Given the description of an element on the screen output the (x, y) to click on. 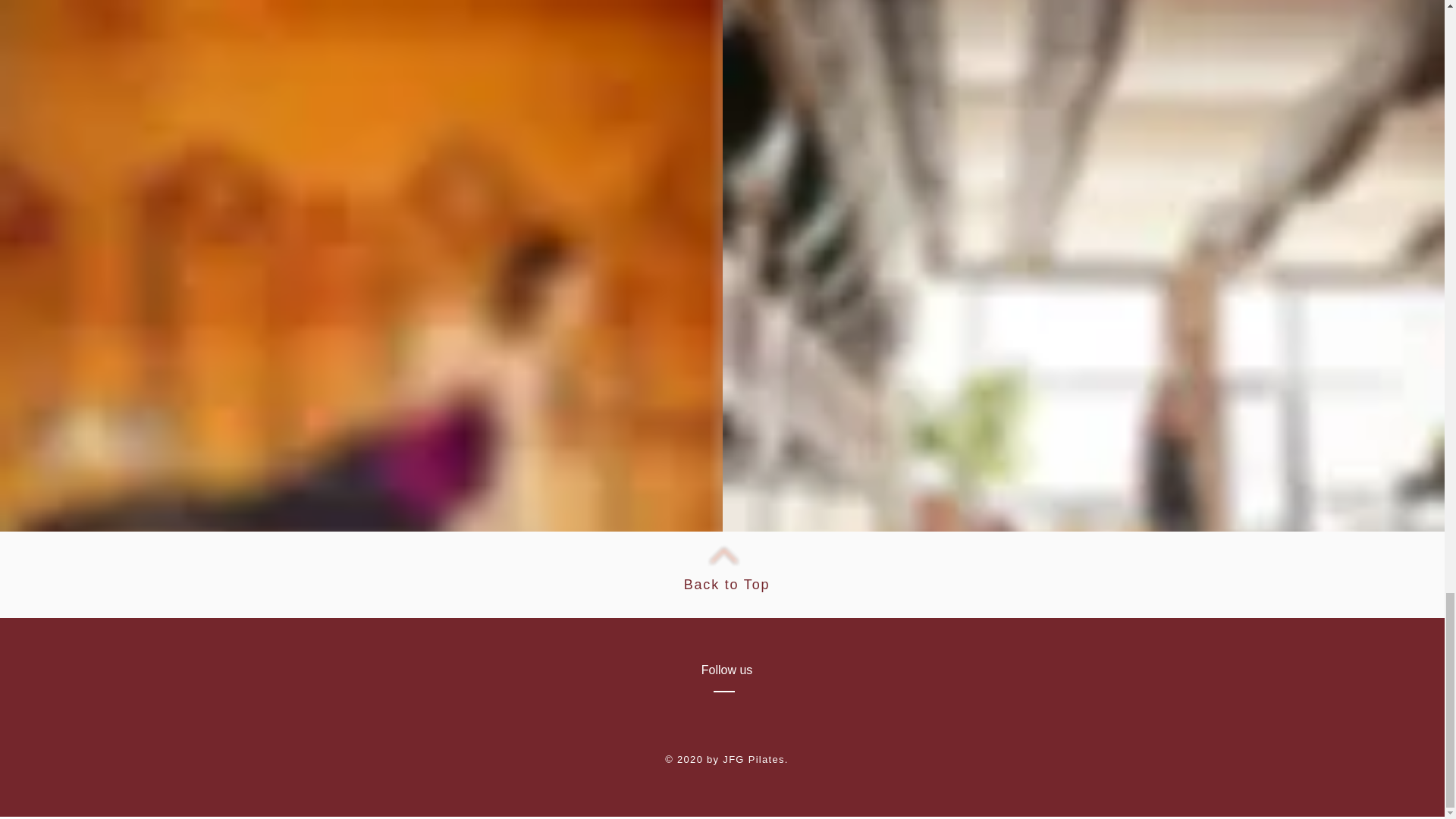
Back to Top (727, 584)
